Given the description of an element on the screen output the (x, y) to click on. 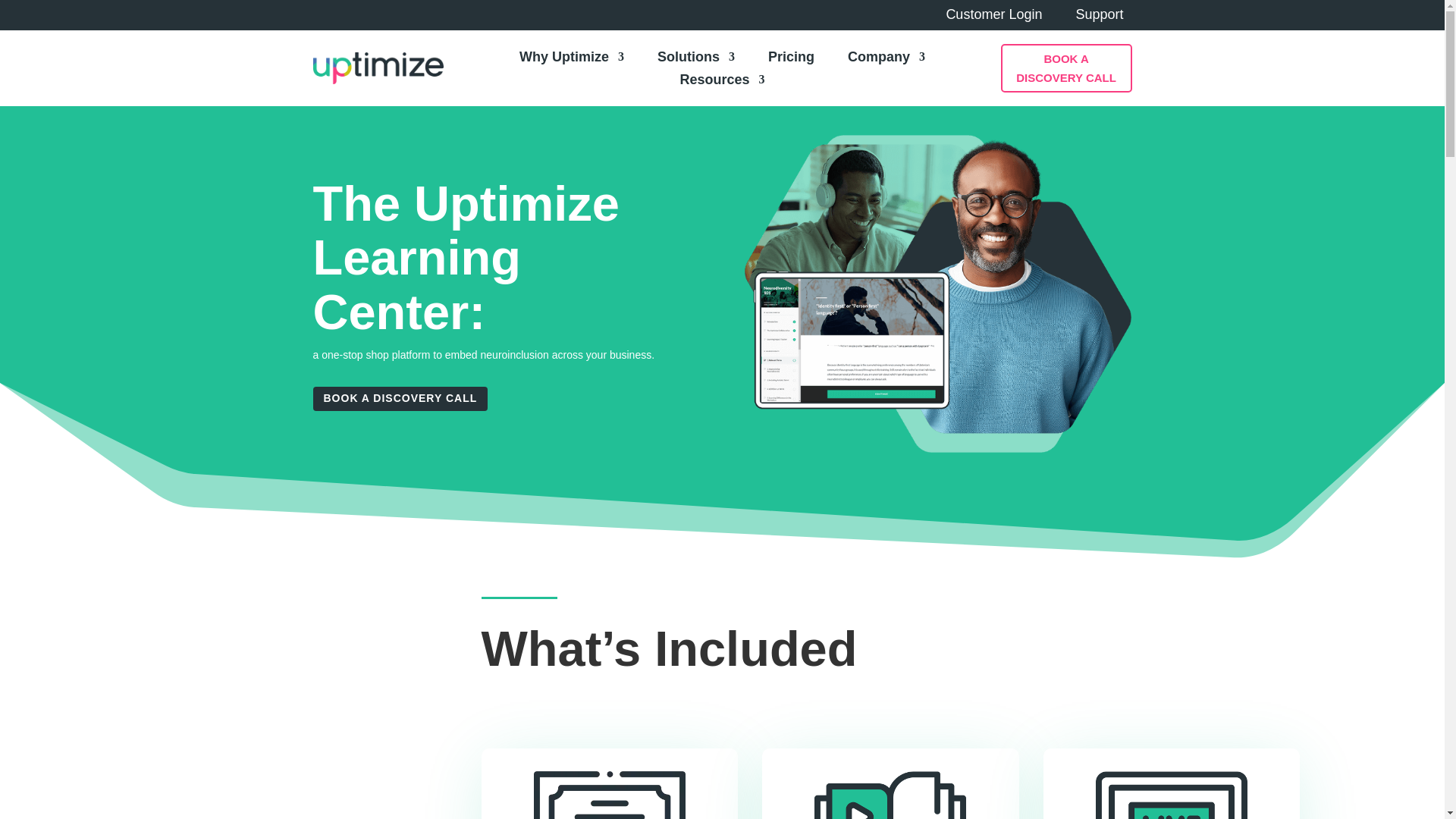
Support (1098, 17)
Why Uptimize (571, 59)
Resources (721, 82)
Uptimize Learning Center (937, 293)
Company (885, 59)
BOOK A DISCOVERY CALL (1066, 68)
Pricing (790, 59)
Customer Login (993, 17)
Uptimize Neurodiversity Logo (378, 68)
Solutions (696, 59)
